Given the description of an element on the screen output the (x, y) to click on. 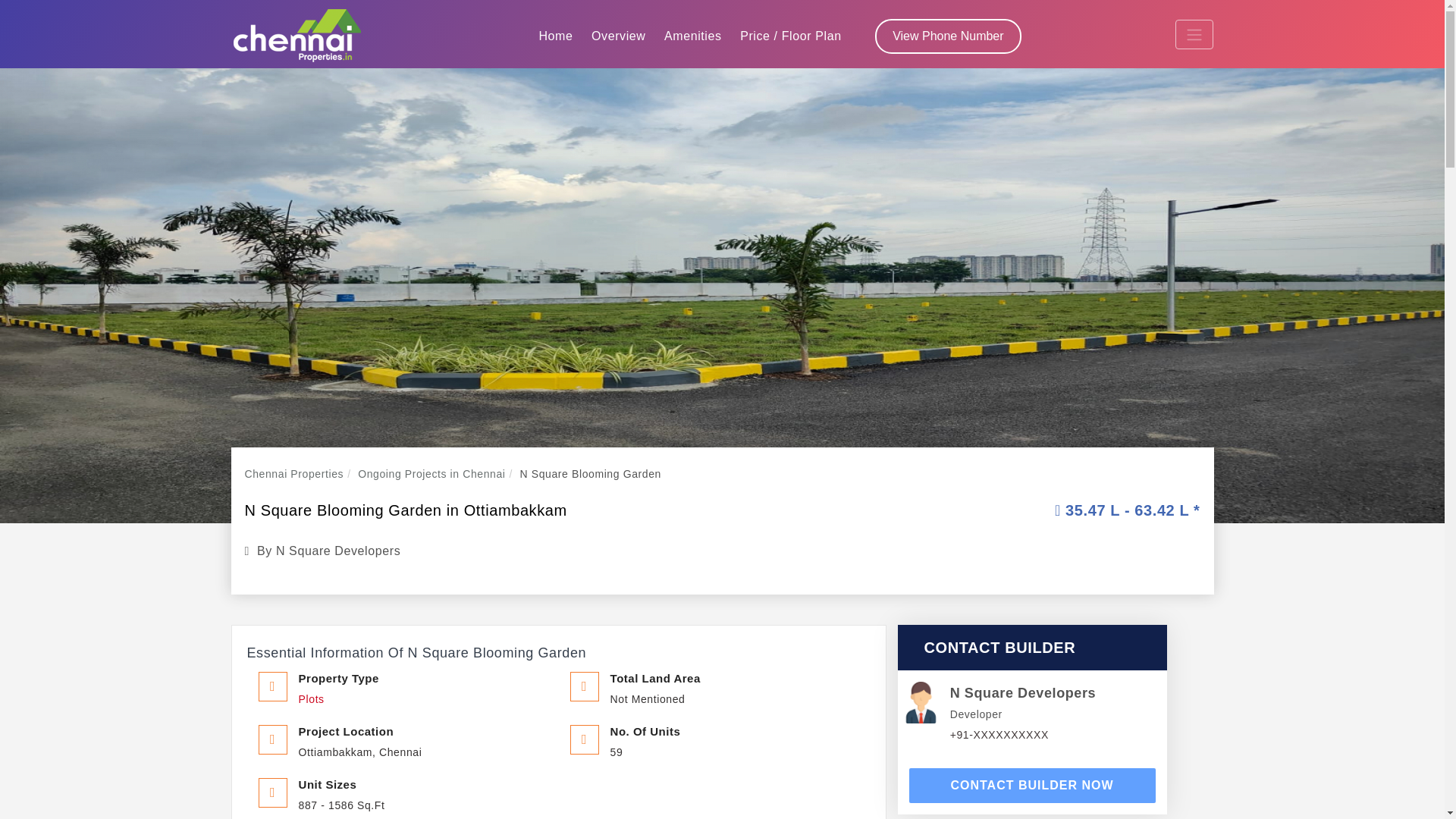
Chennai Properties (293, 473)
Plots for sale in Ottiambakkam (311, 698)
Chennai Properties (297, 34)
button (1031, 785)
Projects in Chennai (431, 473)
Home (555, 35)
Overview (617, 35)
Overview (617, 35)
Plots (311, 698)
Amenities (692, 35)
N Square Blooming Garden (590, 473)
CONTACT BUILDER NOW (1031, 785)
Amenities (692, 35)
Chennai Properties (293, 473)
Ongoing Projects in Chennai (431, 473)
